Given the description of an element on the screen output the (x, y) to click on. 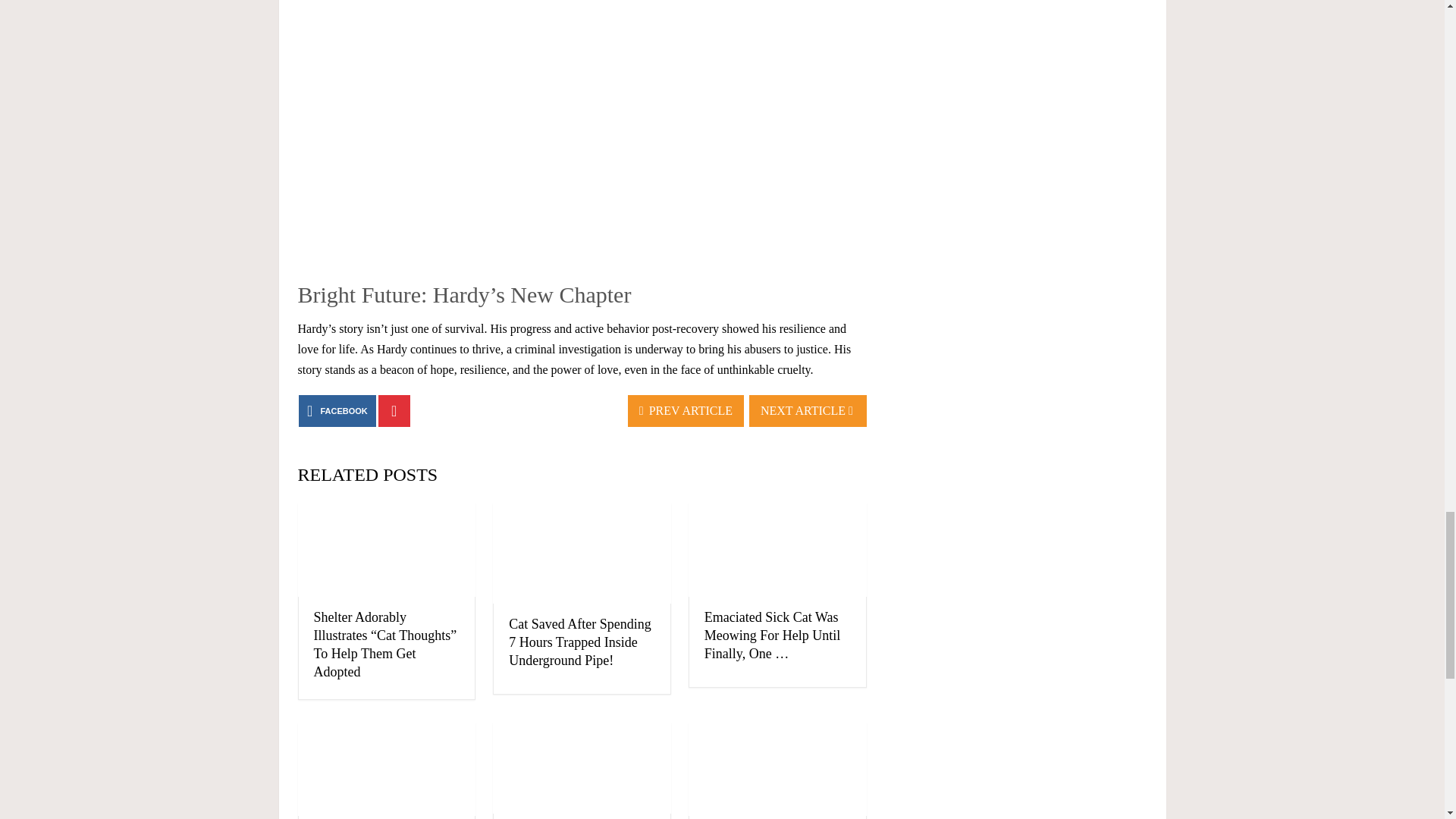
FACEBOOK (336, 410)
UPDATE: On April, Kitten Thrown From Moving Car! (777, 768)
PREV ARTICLE (685, 410)
Kitten Stuck in Stove Rescued by Boston ARL (582, 768)
NEXT ARTICLE (807, 410)
